Given the description of an element on the screen output the (x, y) to click on. 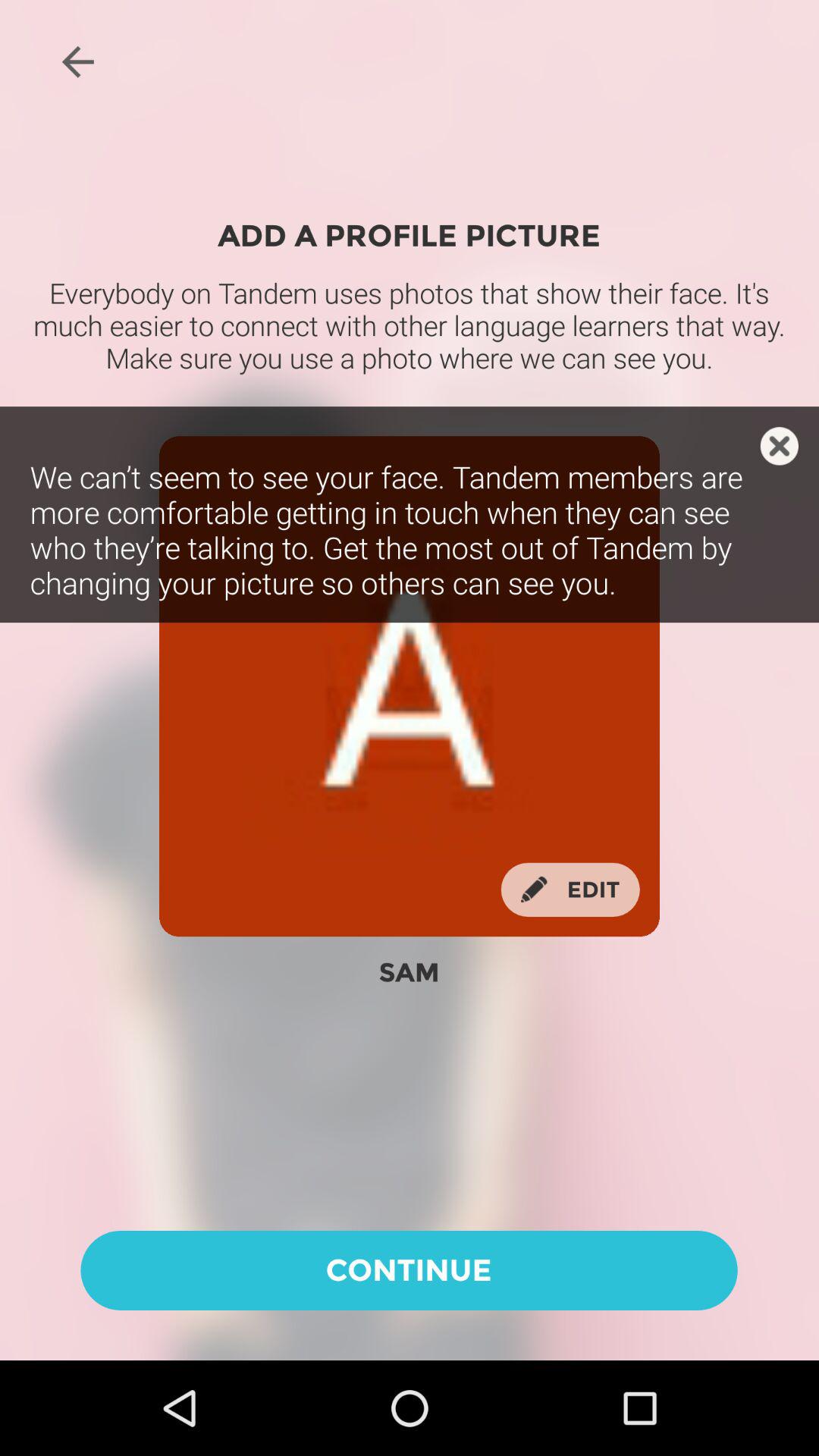
close caption (779, 445)
